Given the description of an element on the screen output the (x, y) to click on. 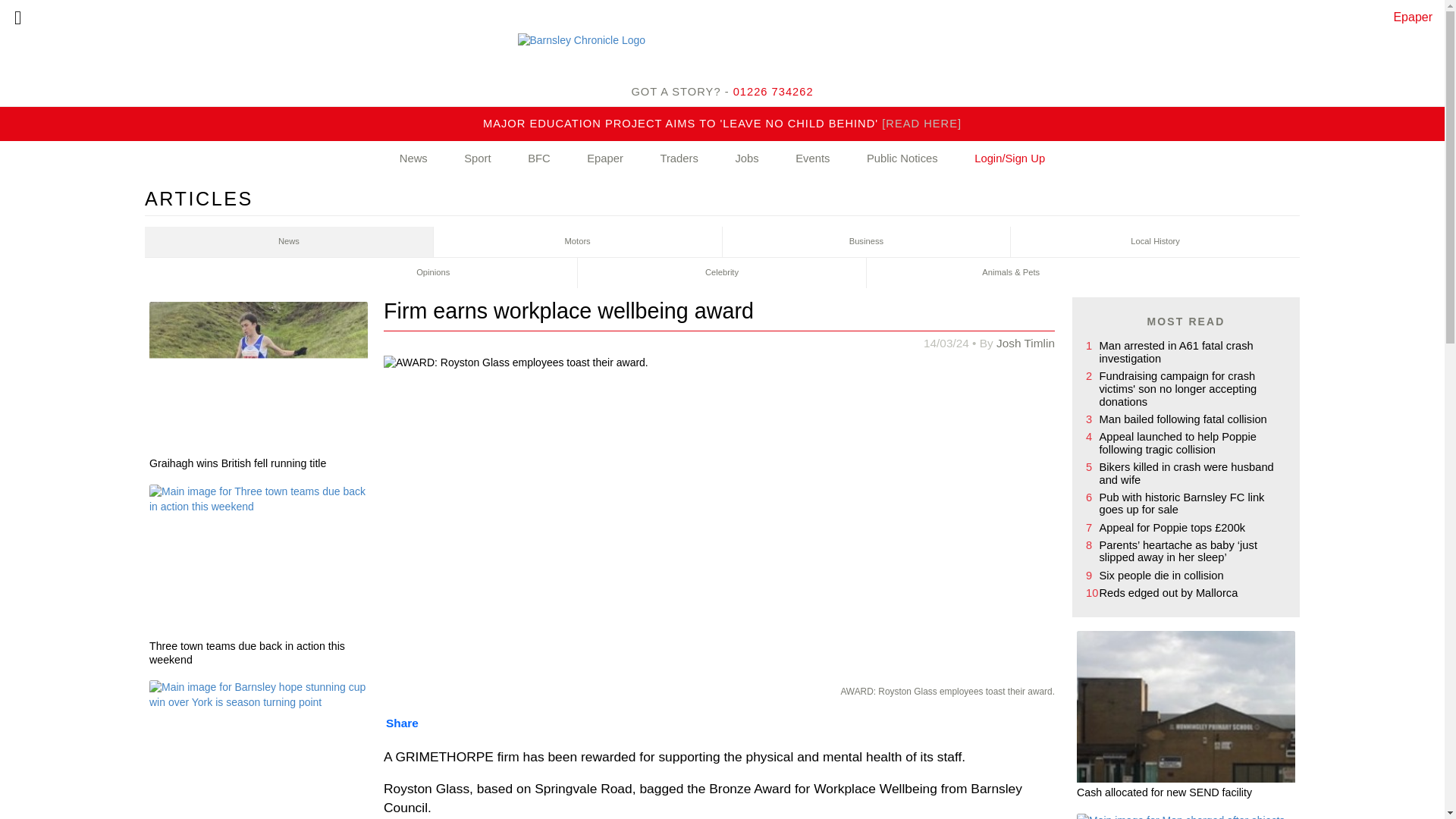
Motors (577, 241)
News (288, 241)
Local History (1155, 241)
BFC (539, 158)
Epaper (604, 158)
Events (812, 158)
Public Notices (902, 158)
Business (866, 241)
Opinions (433, 272)
Traders (678, 158)
Epaper (1412, 16)
News (413, 158)
Jobs (745, 158)
Sport (477, 158)
01226 734262 (773, 91)
